Given the description of an element on the screen output the (x, y) to click on. 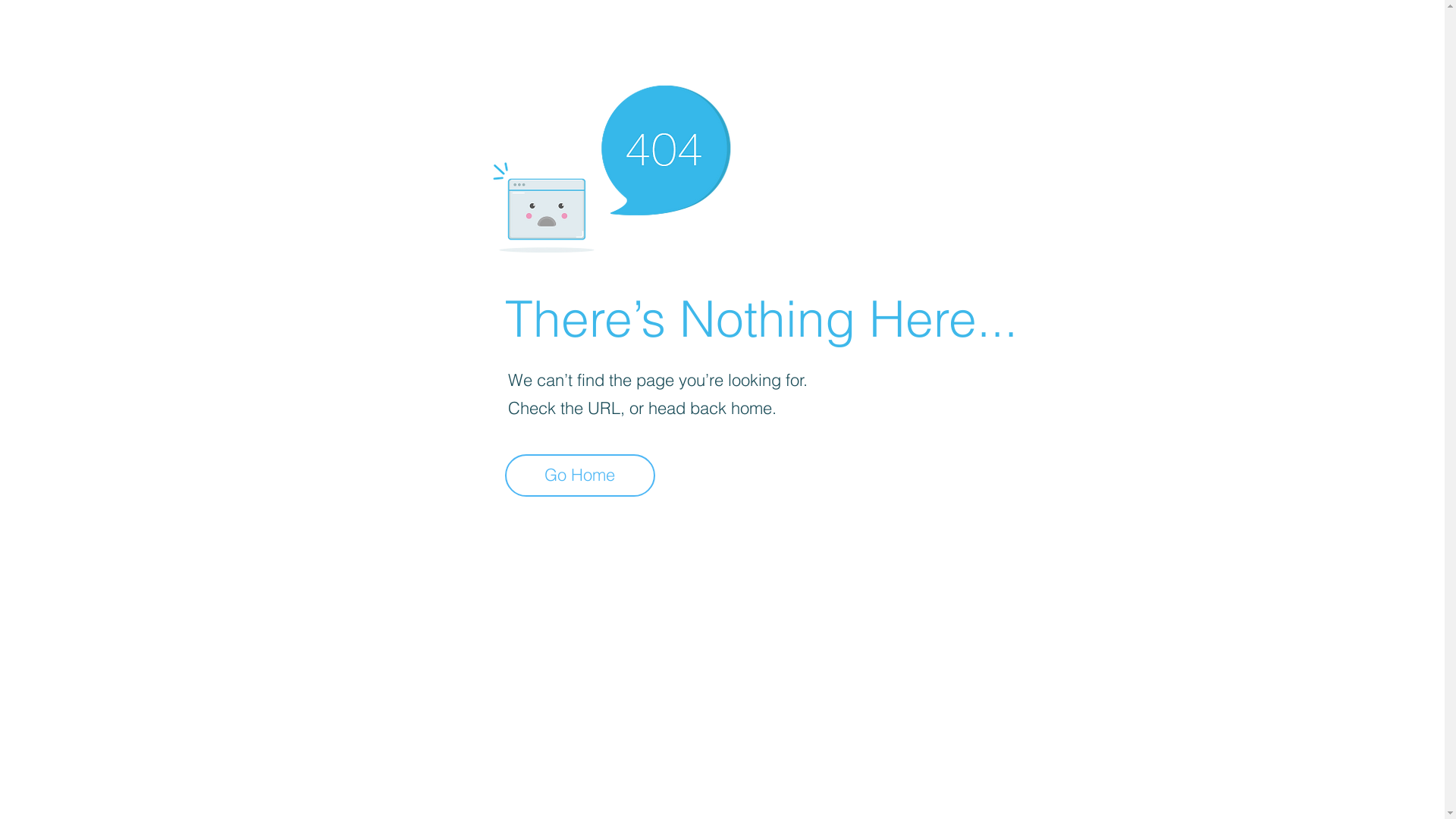
Go Home Element type: text (580, 475)
404-icon_2.png Element type: hover (610, 164)
